Given the description of an element on the screen output the (x, y) to click on. 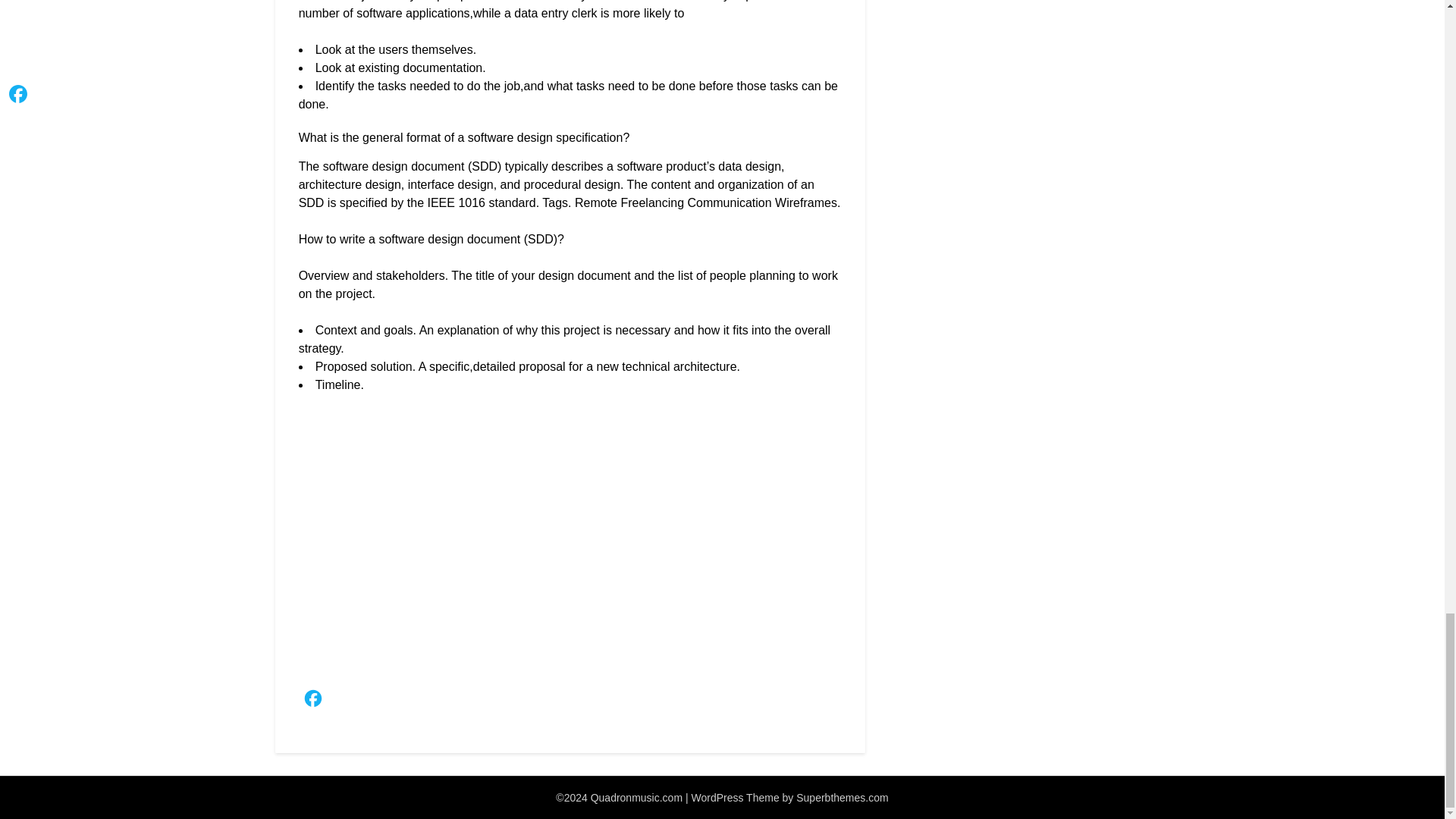
Email (370, 702)
Twitter (341, 702)
Facebook (312, 702)
Superbthemes.com (842, 797)
Facebook (312, 702)
Messenger (456, 702)
Twitter (341, 702)
Telegram (485, 702)
Telegram (485, 702)
Reddit (427, 702)
